Given the description of an element on the screen output the (x, y) to click on. 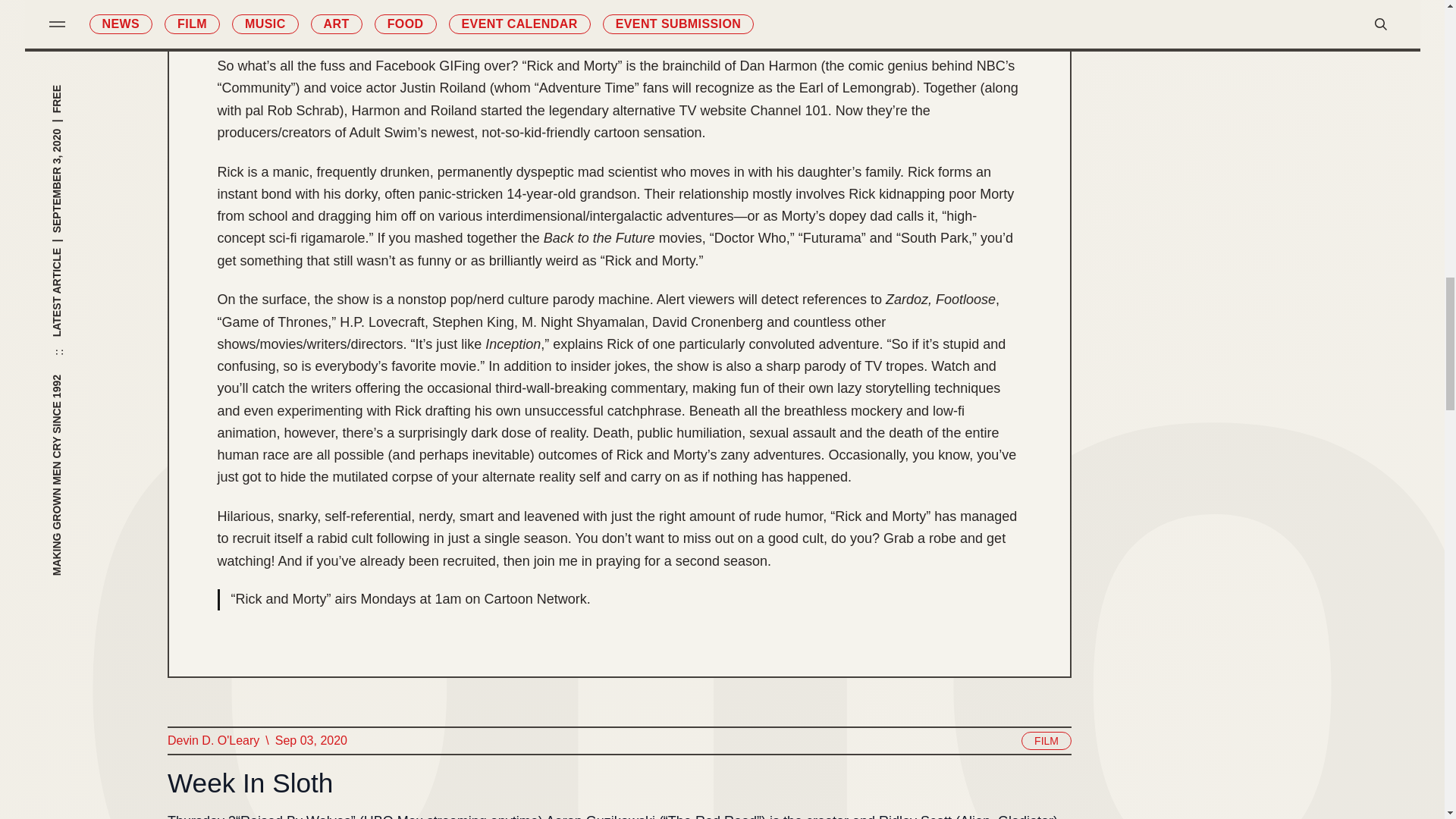
Devin D. O'Leary (213, 740)
adultswim.com (446, 26)
FILM (1046, 741)
